Given the description of an element on the screen output the (x, y) to click on. 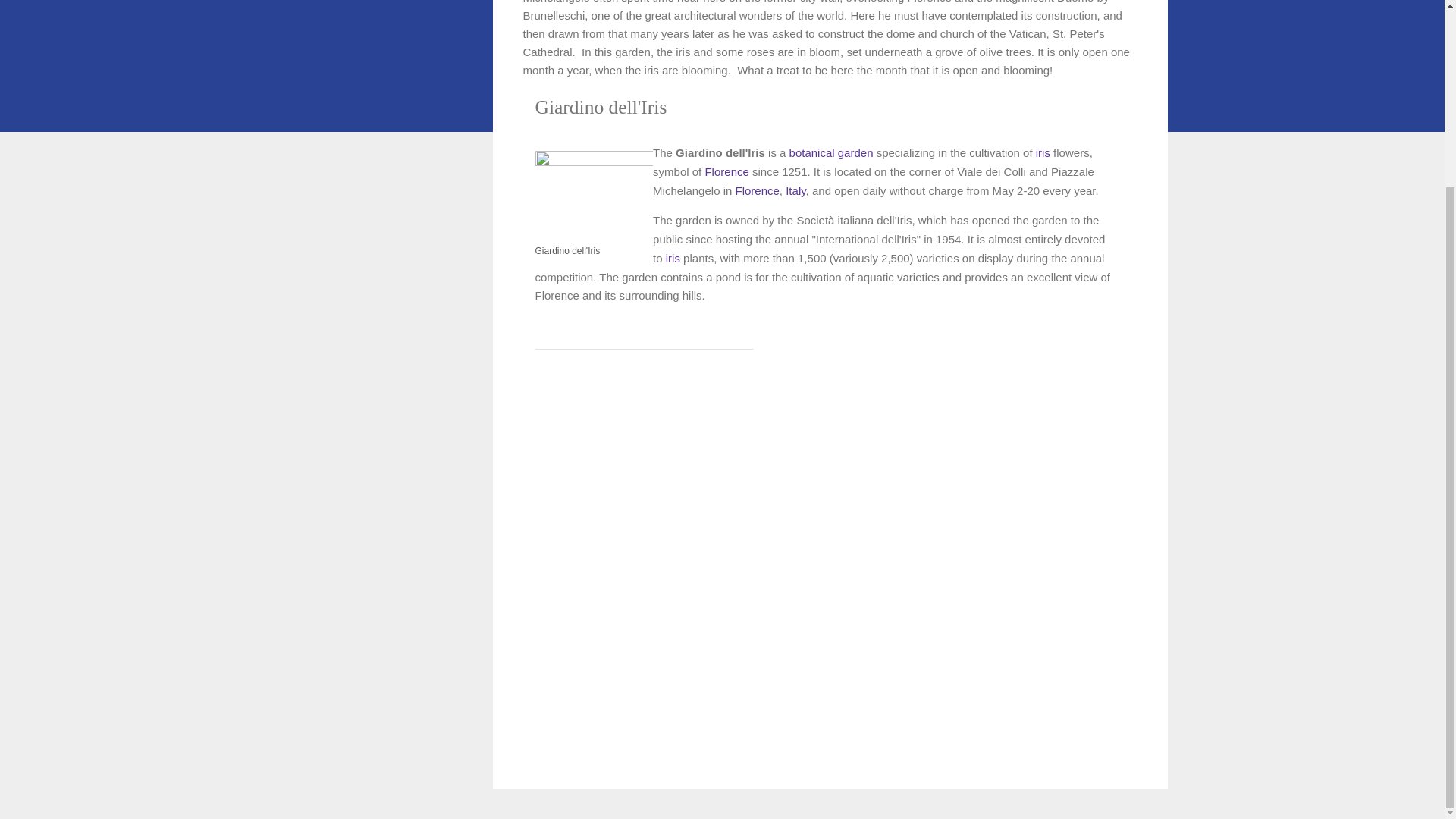
Botanical garden (831, 152)
Florence (756, 190)
Florence (726, 171)
Italy (795, 190)
Florence (726, 171)
iris (1042, 152)
Italy (795, 190)
botanical garden (831, 152)
Florence (756, 190)
iris (672, 257)
